Given the description of an element on the screen output the (x, y) to click on. 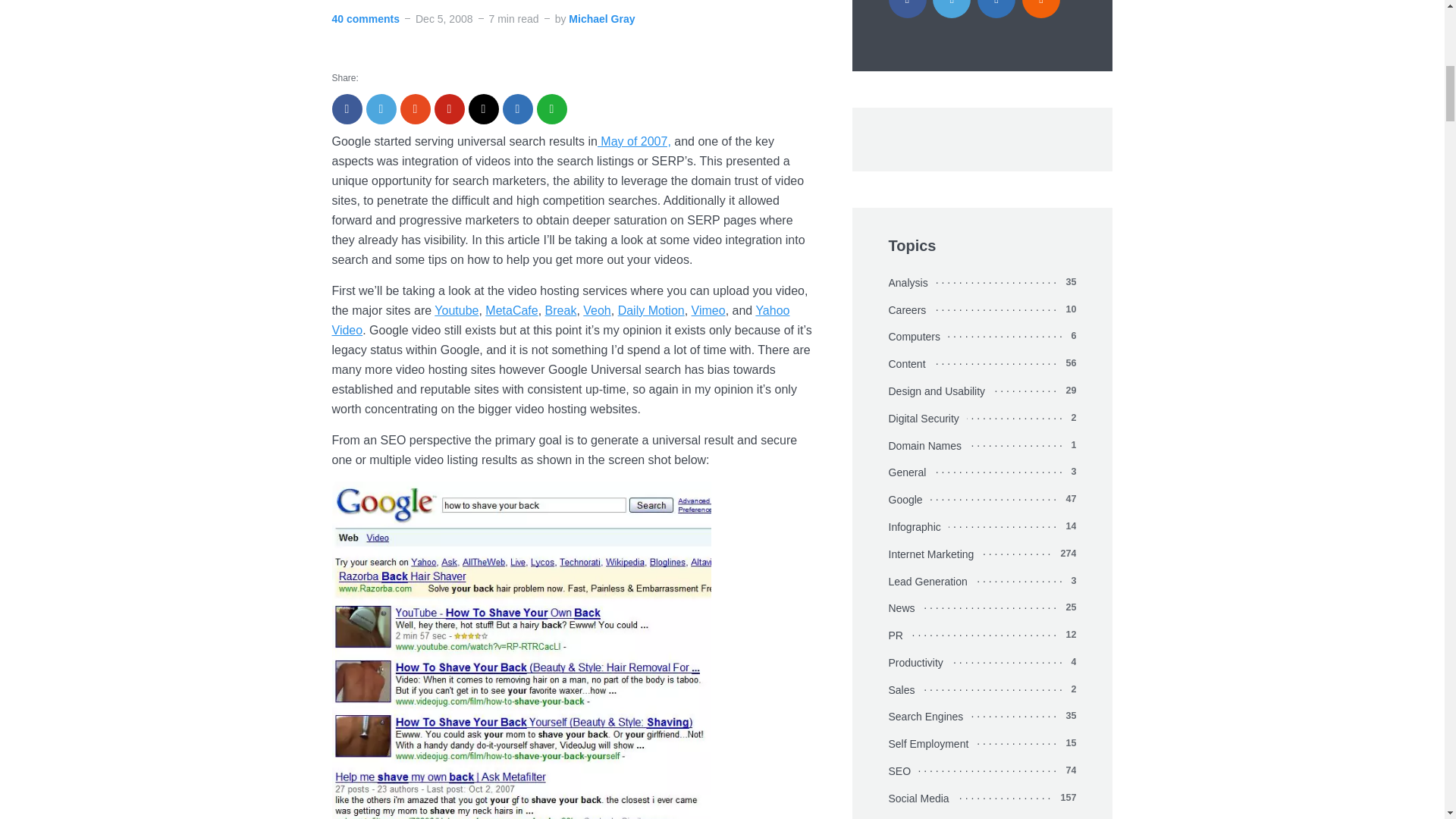
RSS (1040, 9)
Break (560, 309)
May of 2007 (633, 141)
Vimeo (708, 309)
Daily Motion (650, 309)
Linkedin (995, 9)
MetaCafe (510, 309)
Facebook (907, 9)
Veoh (596, 309)
40 comments (364, 18)
Twitter (952, 9)
Youtube (456, 309)
Yahoo Video (560, 319)
